Given the description of an element on the screen output the (x, y) to click on. 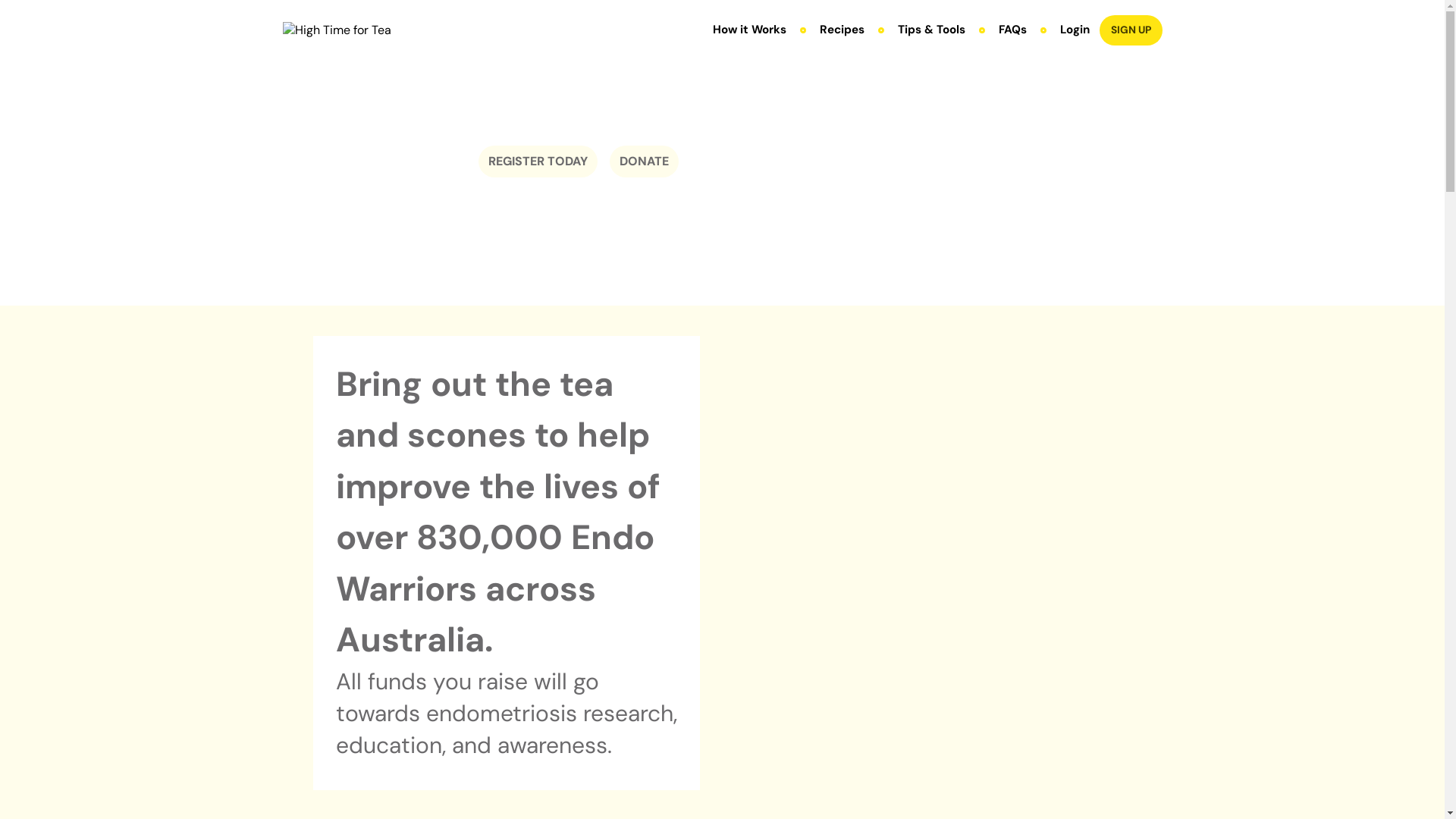
FAQs Element type: text (1012, 29)
SIGN UP Element type: text (1130, 30)
Login Element type: text (1074, 29)
Recipes Element type: text (841, 29)
REGISTER TODAY Element type: text (536, 161)
How it Works Element type: text (749, 29)
DONATE Element type: text (643, 161)
Tips & Tools Element type: text (931, 29)
